Given the description of an element on the screen output the (x, y) to click on. 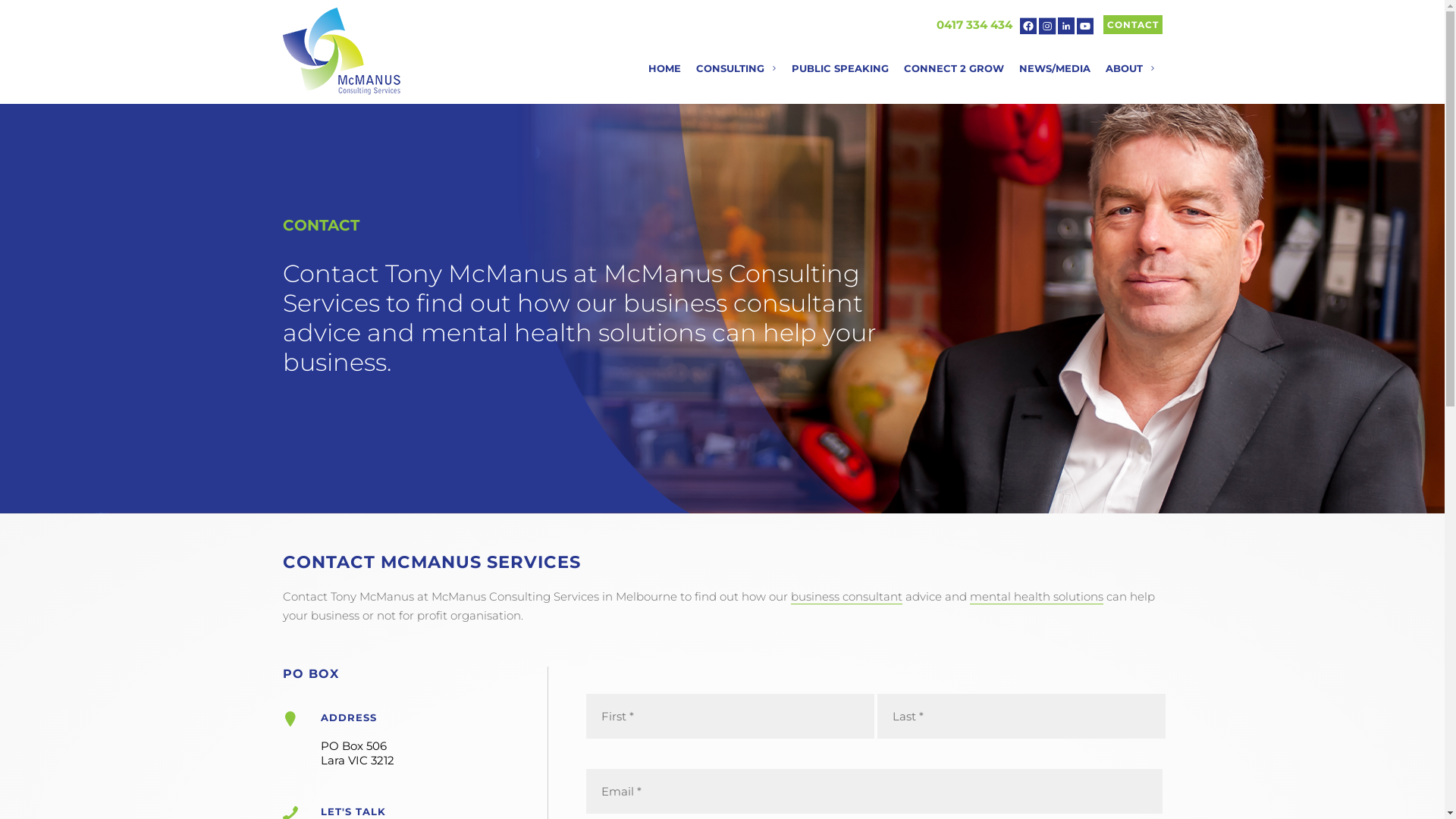
mental health solutions Element type: text (1035, 596)
NEWS/MEDIA Element type: text (1054, 67)
HOME Element type: text (663, 67)
business consultant Element type: text (845, 596)
CONNECT 2 GROW Element type: text (953, 67)
PUBLIC SPEAKING Element type: text (840, 67)
CONTACT Element type: text (1131, 24)
ABOUT Element type: text (1130, 67)
0417 334 434 Element type: text (973, 24)
CONSULTING Element type: text (736, 67)
